Given the description of an element on the screen output the (x, y) to click on. 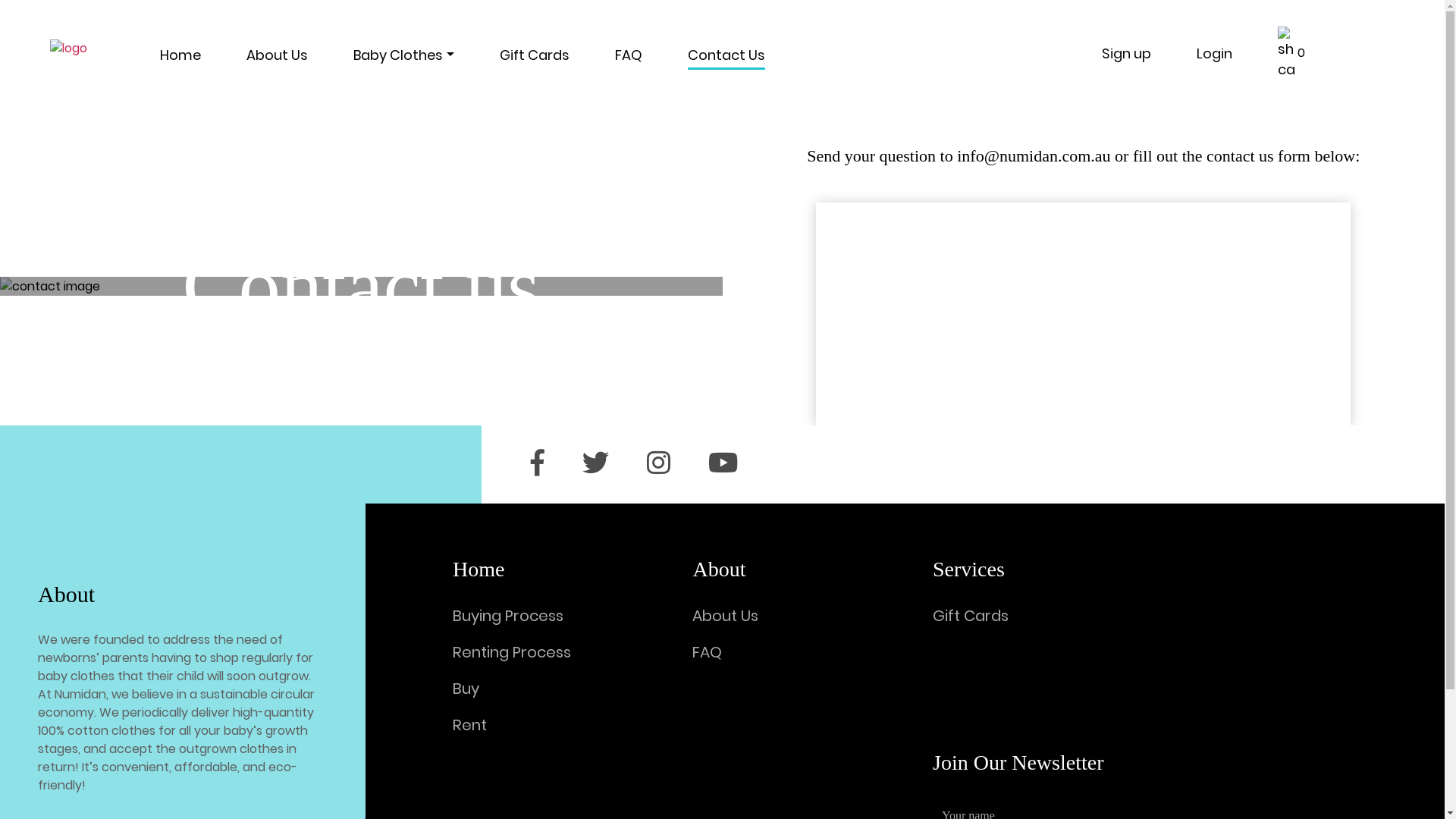
About Us Element type: text (276, 58)
Home Element type: text (180, 58)
About Us Element type: text (725, 615)
Buy Element type: text (465, 688)
Baby Clothes Element type: text (403, 58)
Contact Us Element type: text (726, 58)
Buying Process Element type: text (507, 615)
FAQ Element type: text (628, 58)
info@numidan.com.au Element type: text (1033, 155)
Rent Element type: text (469, 724)
Gift Cards Element type: text (534, 58)
Renting Process Element type: text (511, 651)
Sign up Element type: text (1126, 52)
FAQ Element type: text (706, 651)
Gift Cards Element type: text (970, 615)
Login Element type: text (1214, 52)
